Given the description of an element on the screen output the (x, y) to click on. 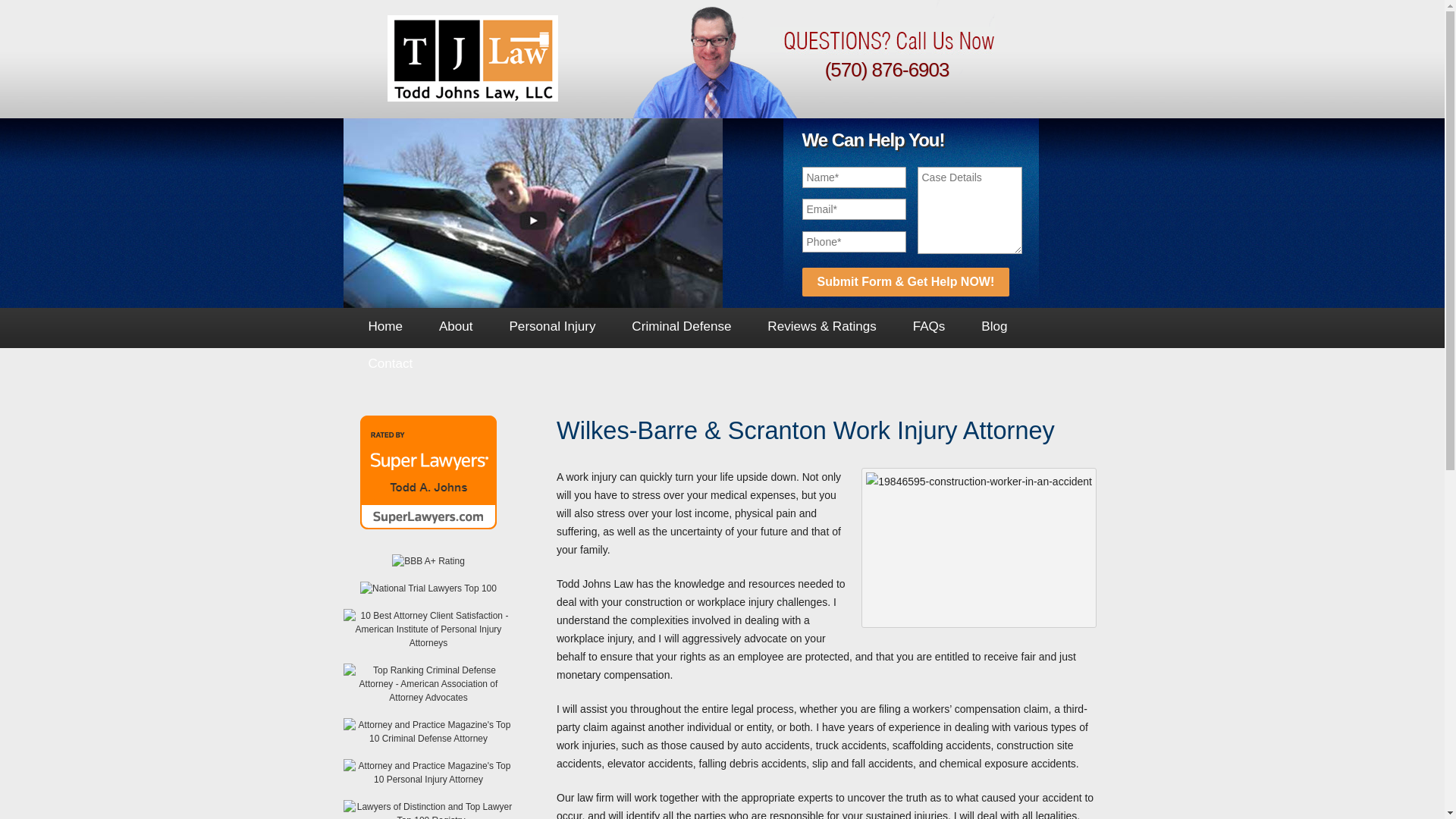
Criminal Defense (680, 326)
Home (385, 326)
Contact (390, 364)
About (456, 326)
Personal Injury (553, 326)
FAQs (929, 326)
Blog (993, 326)
